Given the description of an element on the screen output the (x, y) to click on. 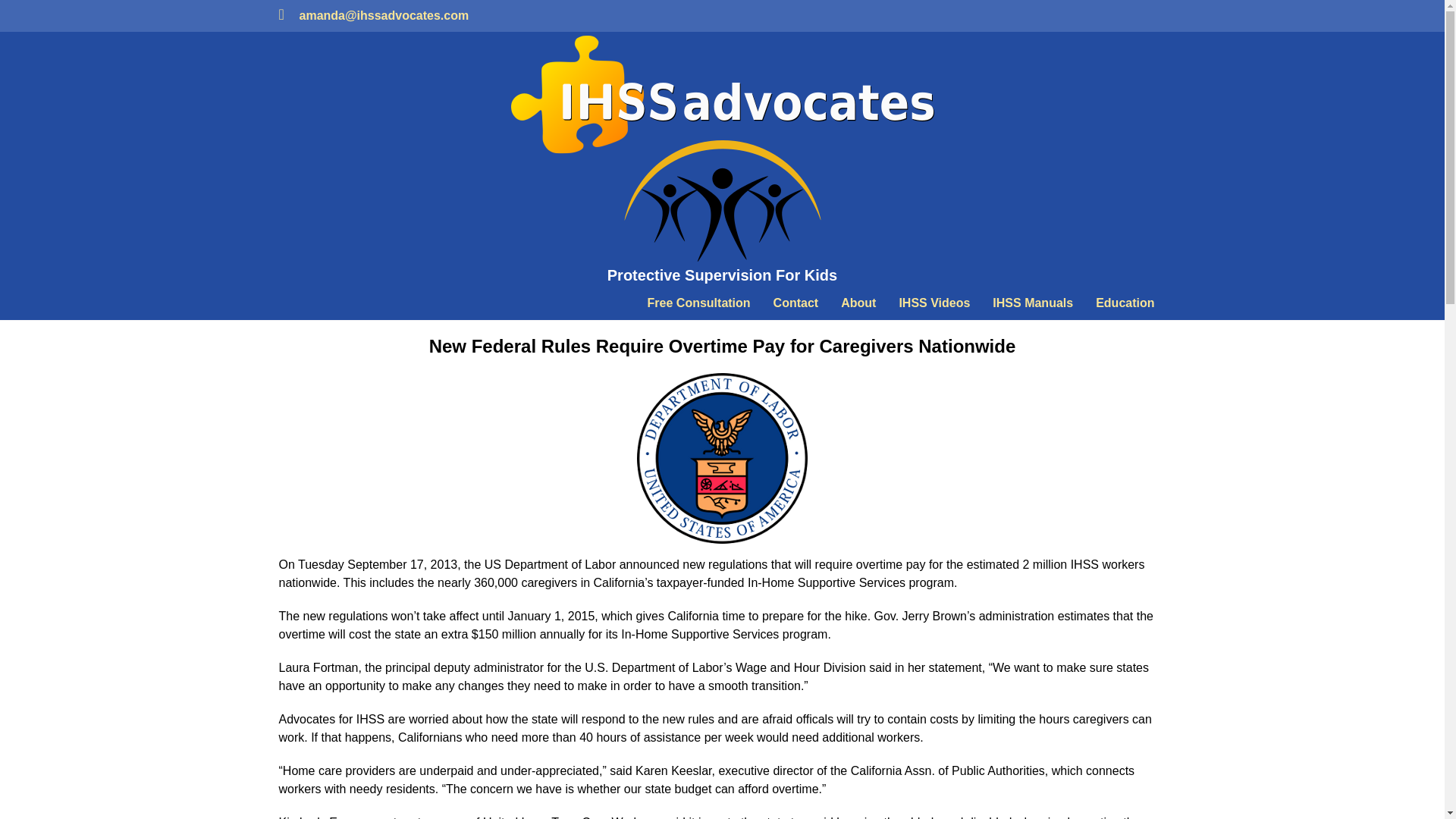
IHSS Videos (933, 303)
Free Consultation (698, 303)
About (857, 303)
Contact (795, 303)
Education (1125, 303)
IHSS Manuals (1032, 303)
